Given the description of an element on the screen output the (x, y) to click on. 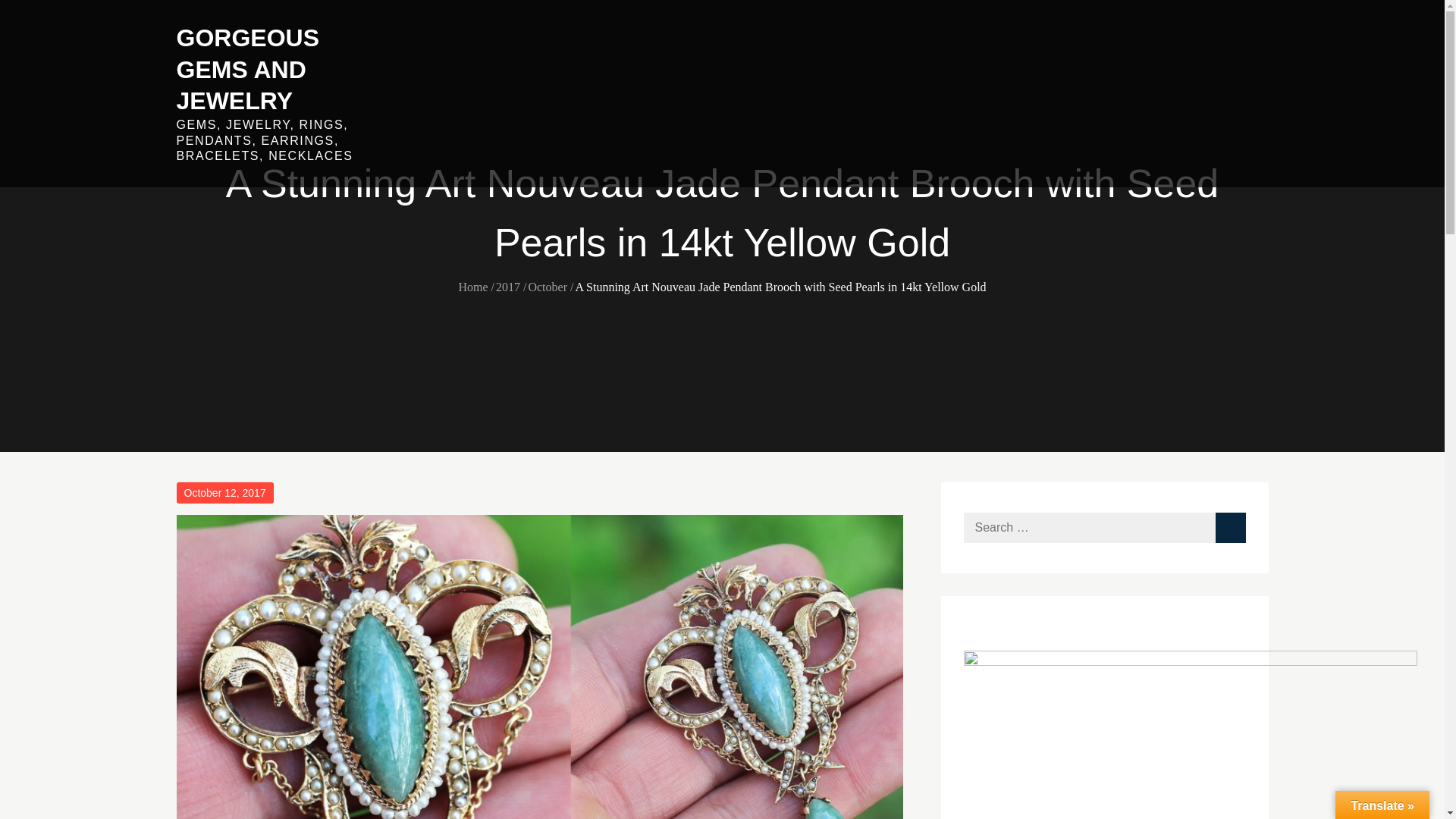
October 12, 2017 (224, 492)
GORGEOUS GEMS AND JEWELRY (247, 69)
2017 (507, 286)
Search (1229, 527)
Home (472, 286)
October (547, 286)
